Given the description of an element on the screen output the (x, y) to click on. 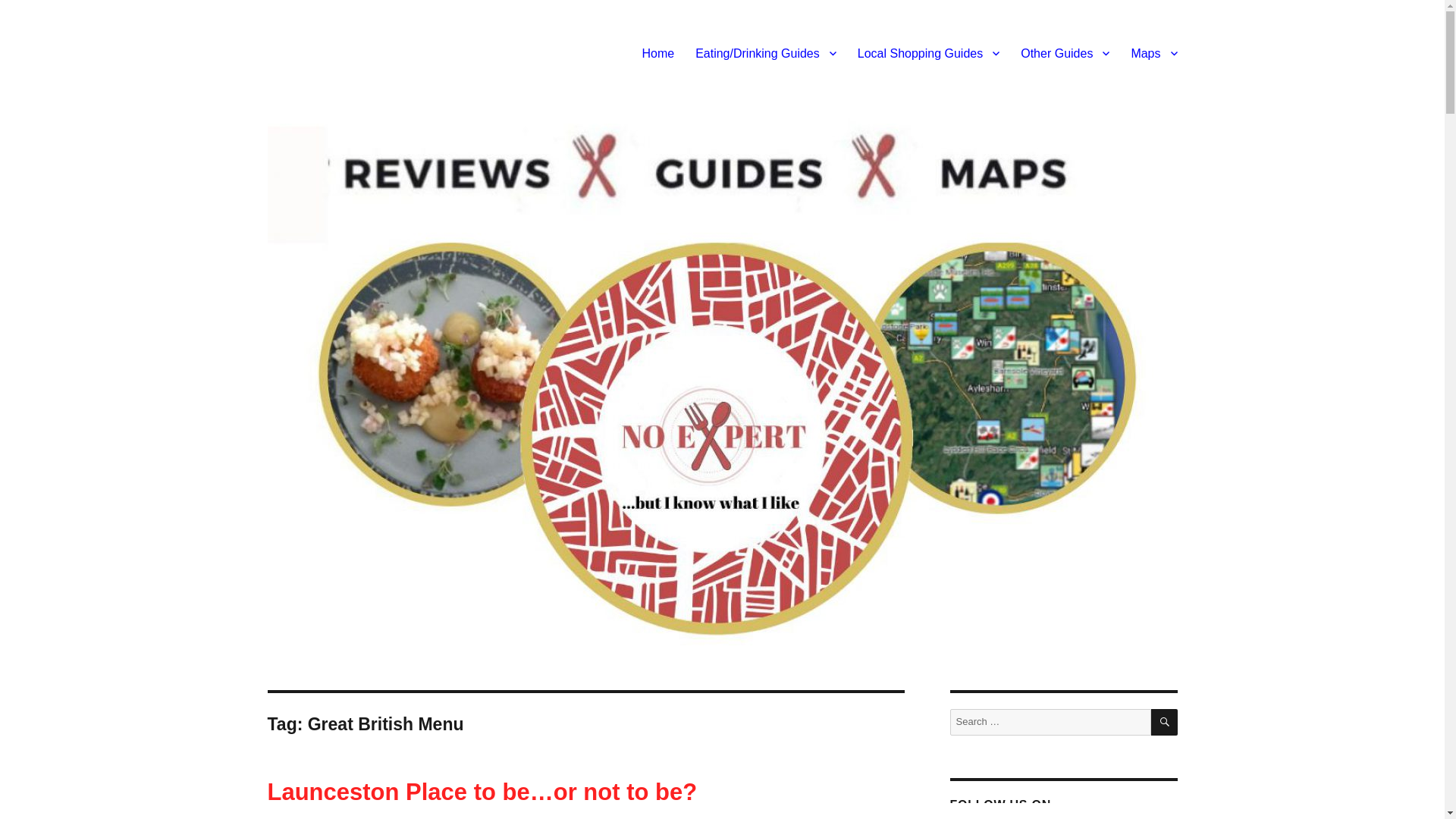
Local Shopping Guides (928, 52)
Other Guides (1064, 52)
Home (657, 52)
Maps (1153, 52)
